Given the description of an element on the screen output the (x, y) to click on. 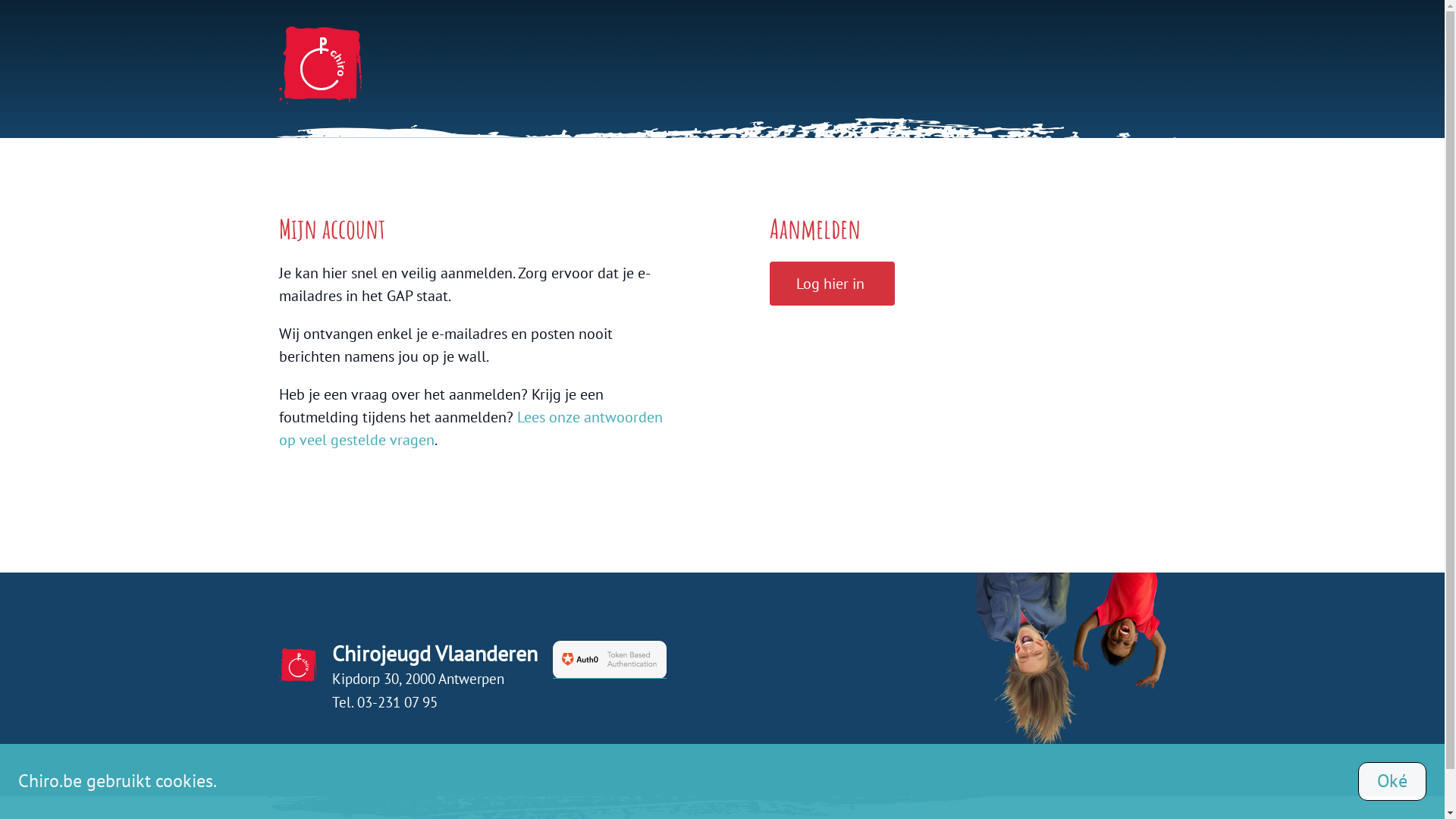
Home Element type: hover (722, 64)
Overslaan en naar de inhoud gaan Element type: text (0, 0)
Lees onze antwoorden op veel gestelde vragen Element type: text (470, 428)
Log hier in  Element type: text (831, 283)
